Given the description of an element on the screen output the (x, y) to click on. 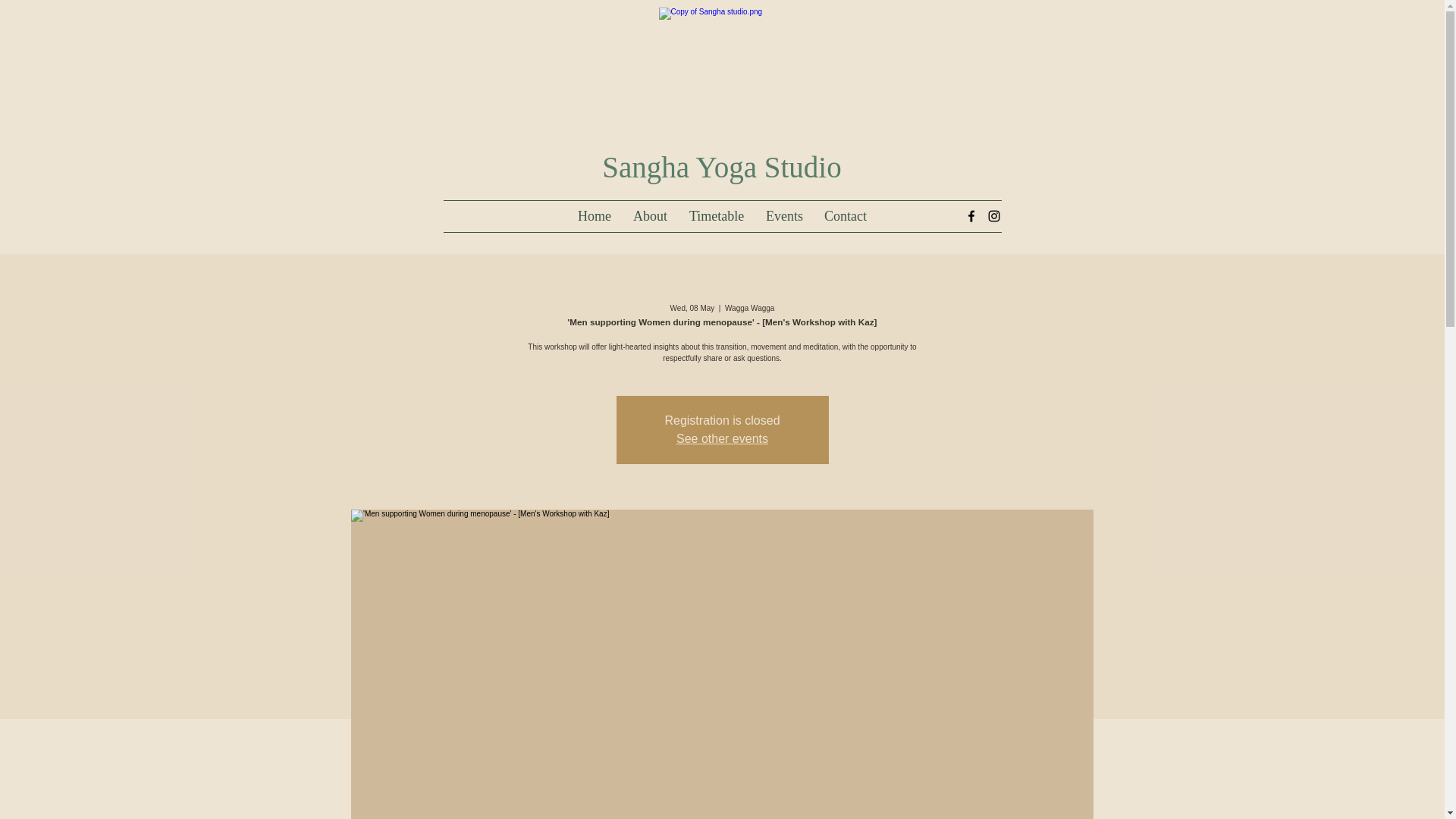
Events (783, 215)
Sangha Yoga Studio (721, 166)
Contact (844, 215)
Timetable (716, 215)
Home (593, 215)
About (649, 215)
See other events (722, 438)
